Given the description of an element on the screen output the (x, y) to click on. 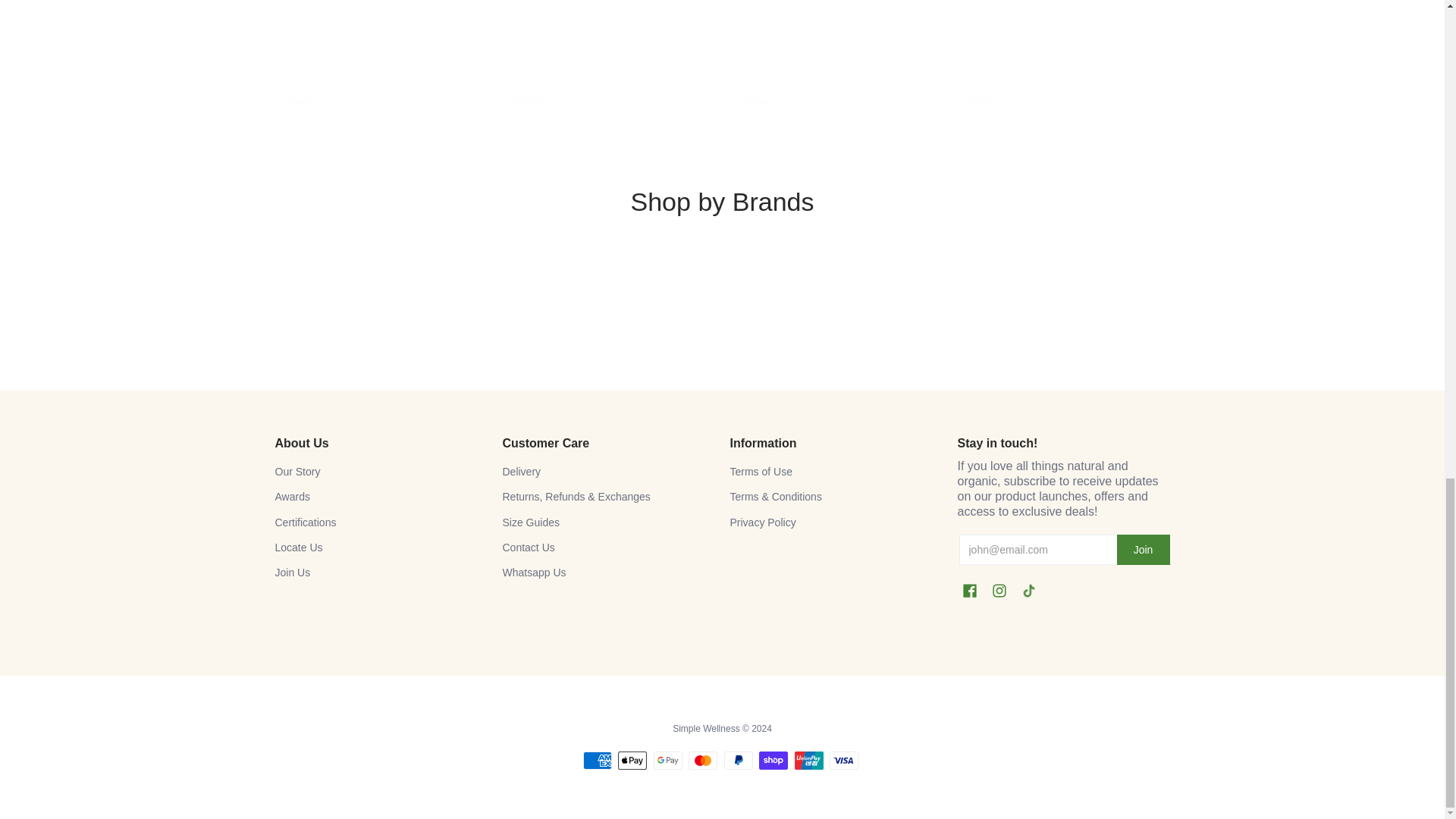
PayPal (737, 760)
Apple Pay (631, 760)
Google Pay (667, 760)
Union Pay (809, 760)
American Express (597, 760)
Shop Pay (772, 760)
Visa (844, 760)
Mastercard (702, 760)
